Given the description of an element on the screen output the (x, y) to click on. 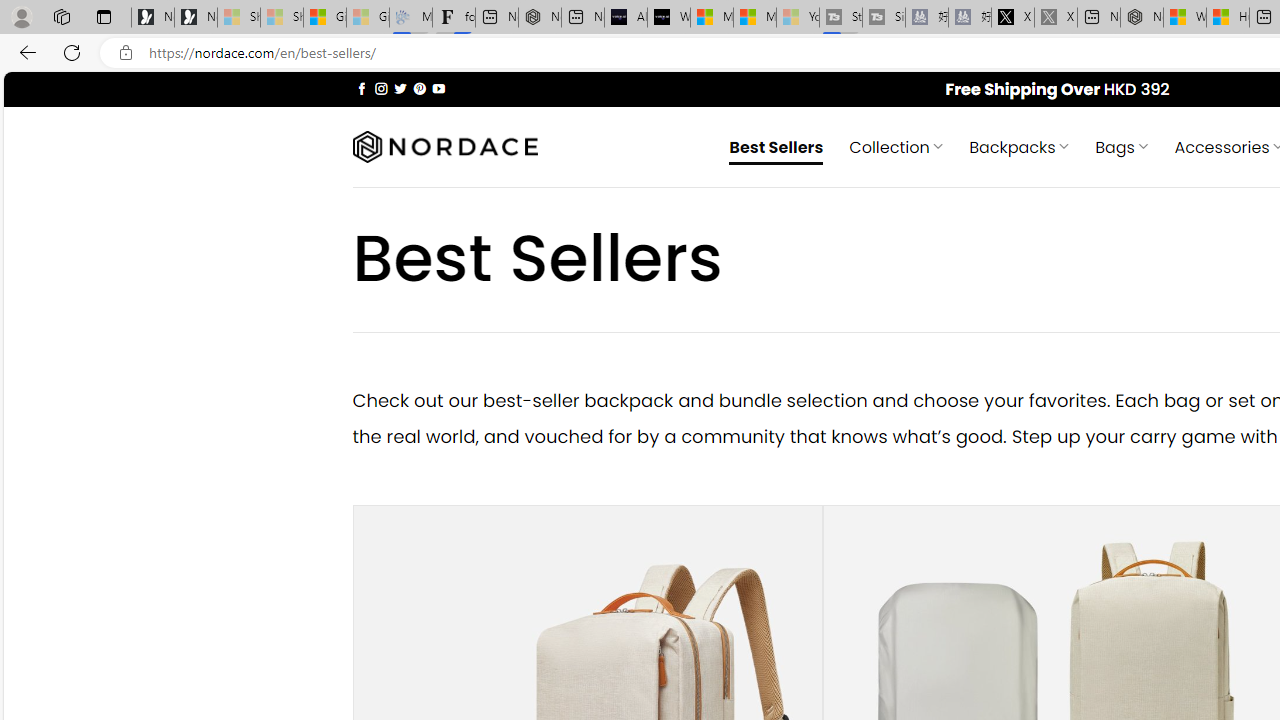
  Best Sellers (776, 146)
